Given the description of an element on the screen output the (x, y) to click on. 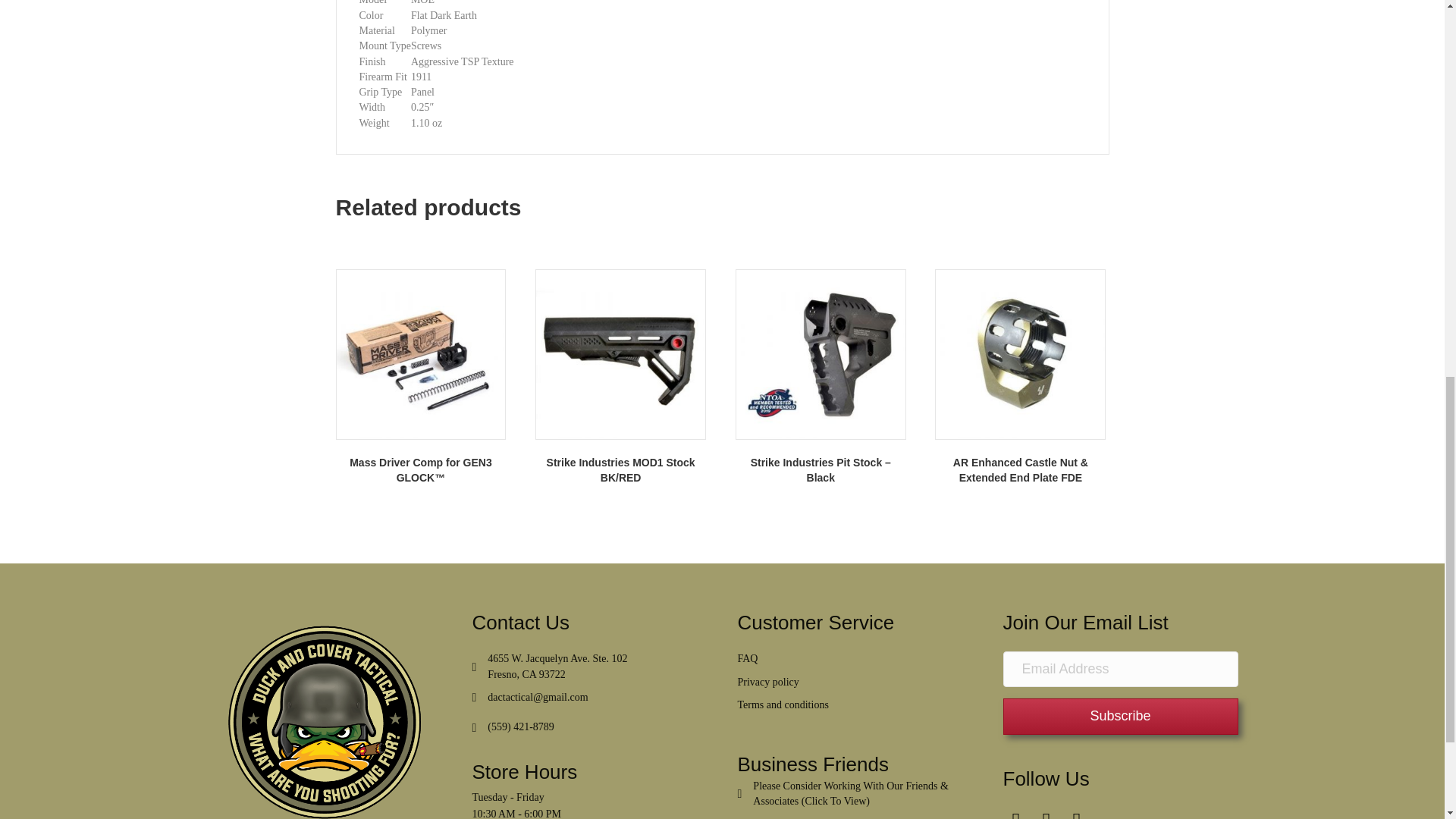
Duck and Cover Tactical Logo (323, 714)
YouTube (1075, 813)
Facebook (1016, 813)
Instagram (1045, 813)
